Given the description of an element on the screen output the (x, y) to click on. 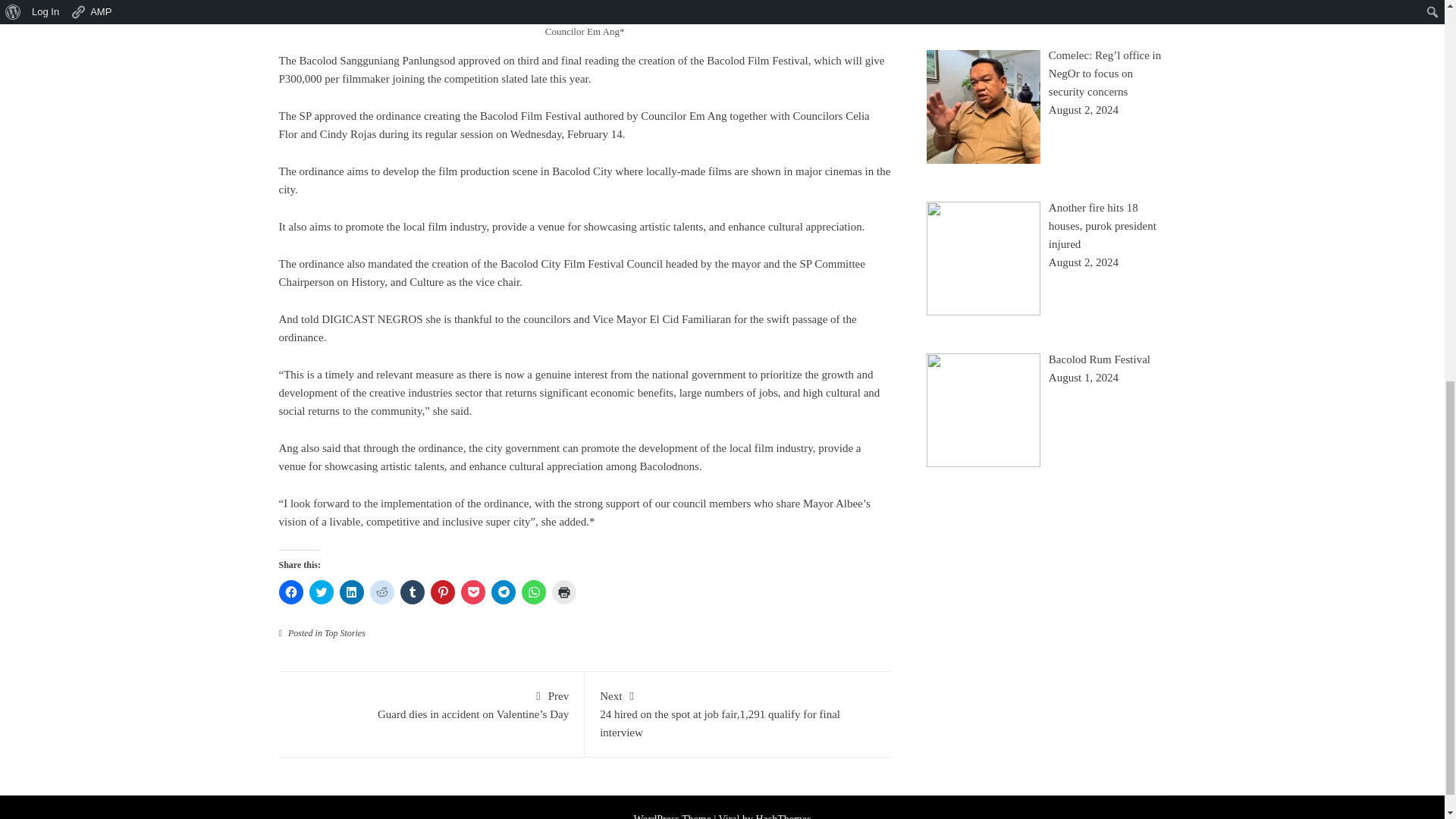
Click to share on Reddit (381, 591)
Click to share on Twitter (320, 591)
Click to share on Pocket (472, 591)
Click to share on Telegram (503, 591)
Click to print (563, 591)
Click to share on Facebook (290, 591)
Click to share on Tumblr (412, 591)
Click to share on WhatsApp (533, 591)
Click to share on Pinterest (442, 591)
Click to share on LinkedIn (351, 591)
